Given the description of an element on the screen output the (x, y) to click on. 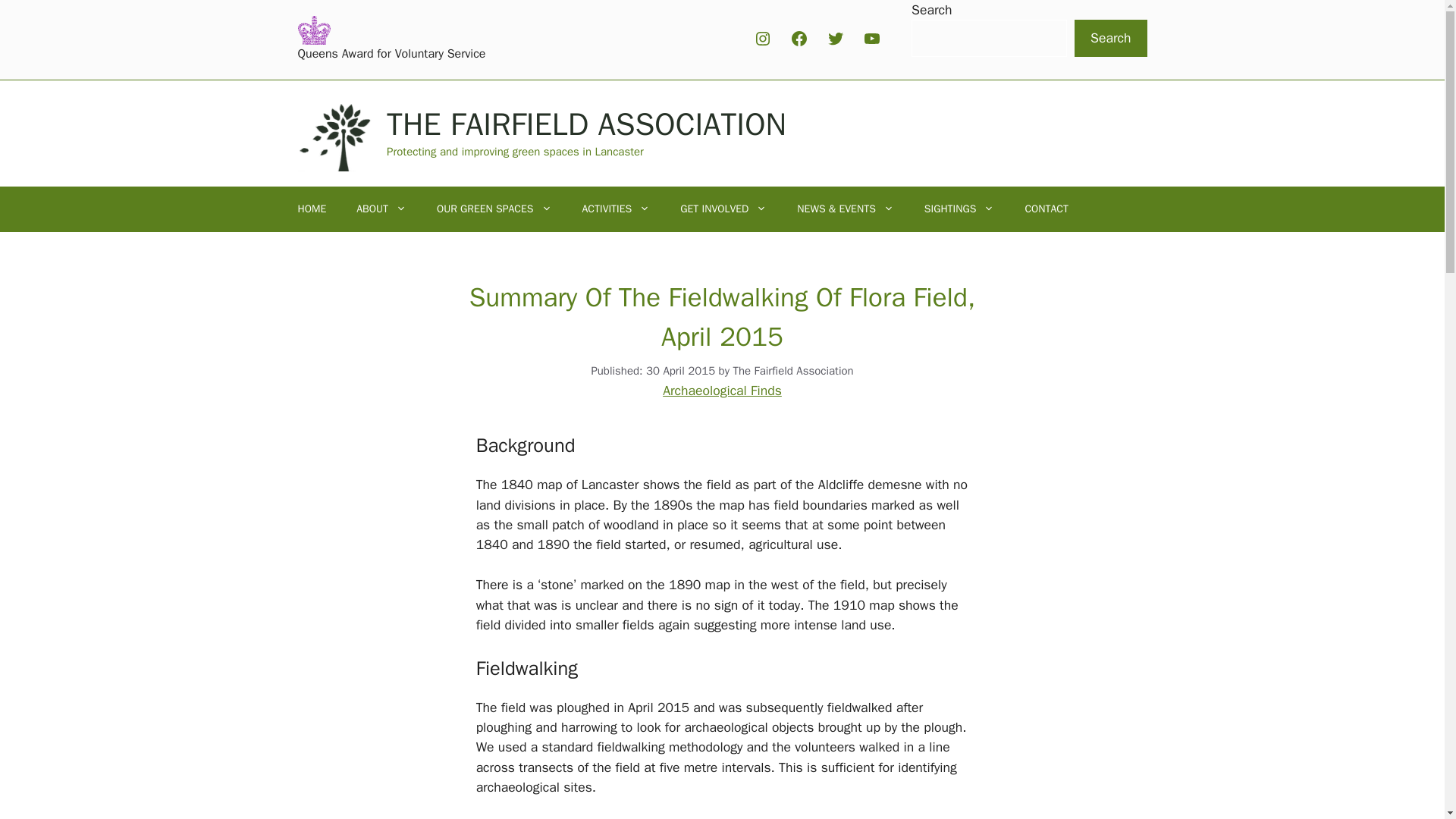
Facebook (799, 38)
ACTIVITIES (616, 208)
THE FAIRFIELD ASSOCIATION (586, 124)
HOME (311, 208)
Twitter (835, 38)
Instagram (762, 38)
Youtube (871, 38)
ABOUT (381, 208)
OUR GREEN SPACES (494, 208)
GET INVOLVED (723, 208)
